Given the description of an element on the screen output the (x, y) to click on. 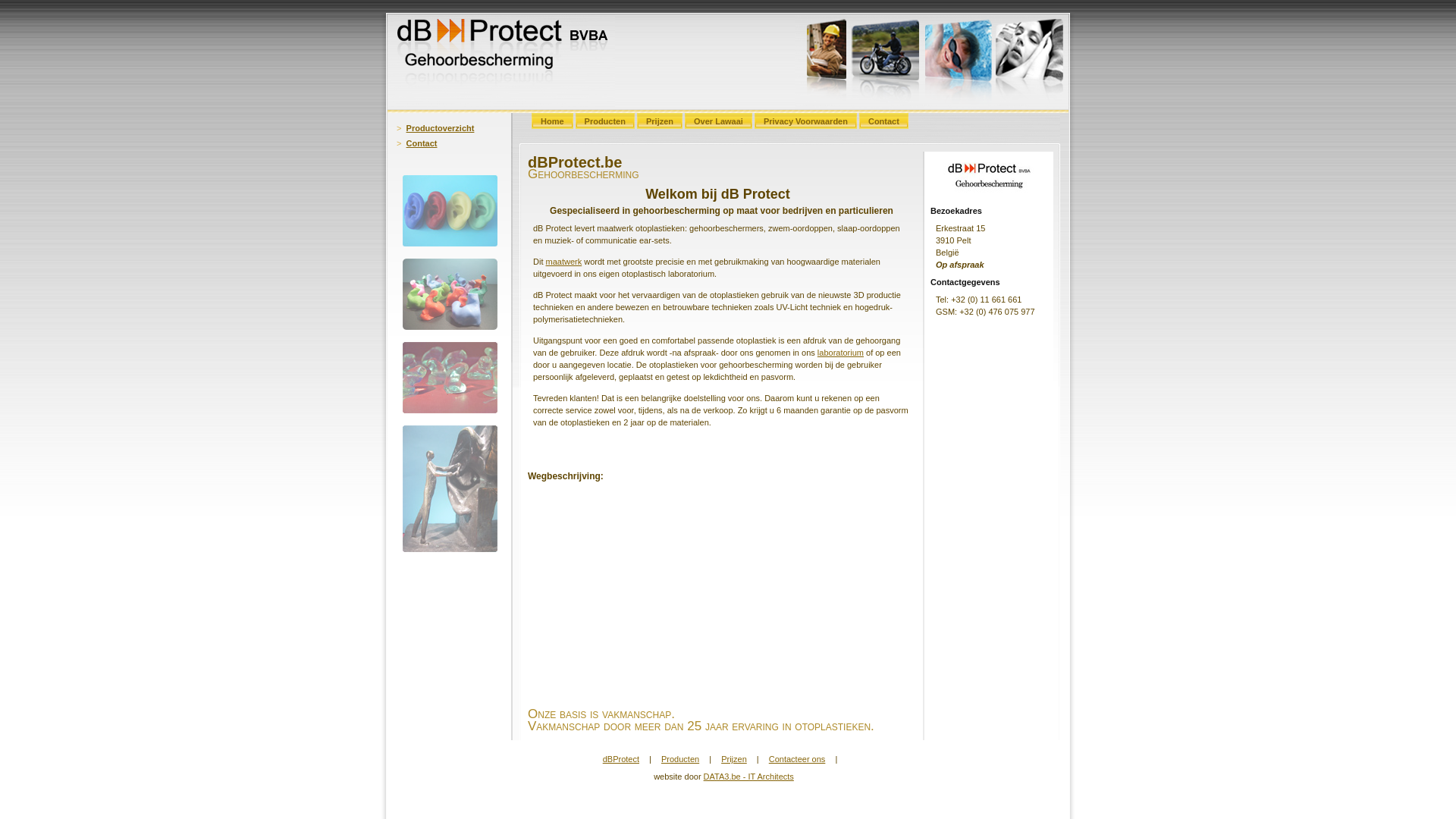
Contact Element type: text (421, 142)
dBProtect Element type: text (620, 758)
Contact Element type: text (883, 122)
maatwerk Element type: text (564, 261)
Home Element type: text (552, 122)
Over Lawaai Element type: text (718, 122)
laboratorium Element type: text (840, 352)
Productoverzicht Element type: text (440, 127)
Oren Element type: hover (449, 210)
Prijzen Element type: text (733, 758)
Producten Element type: text (680, 758)
DATA3.be - IT Architects Element type: text (748, 776)
Privacy Voorwaarden Element type: text (805, 122)
Contacteer ons Element type: text (796, 758)
Otoplastics Element type: hover (449, 377)
Artwork Element type: hover (449, 488)
Impressions Element type: hover (449, 293)
Prijzen Element type: text (659, 122)
Producten Element type: text (605, 122)
